Given the description of an element on the screen output the (x, y) to click on. 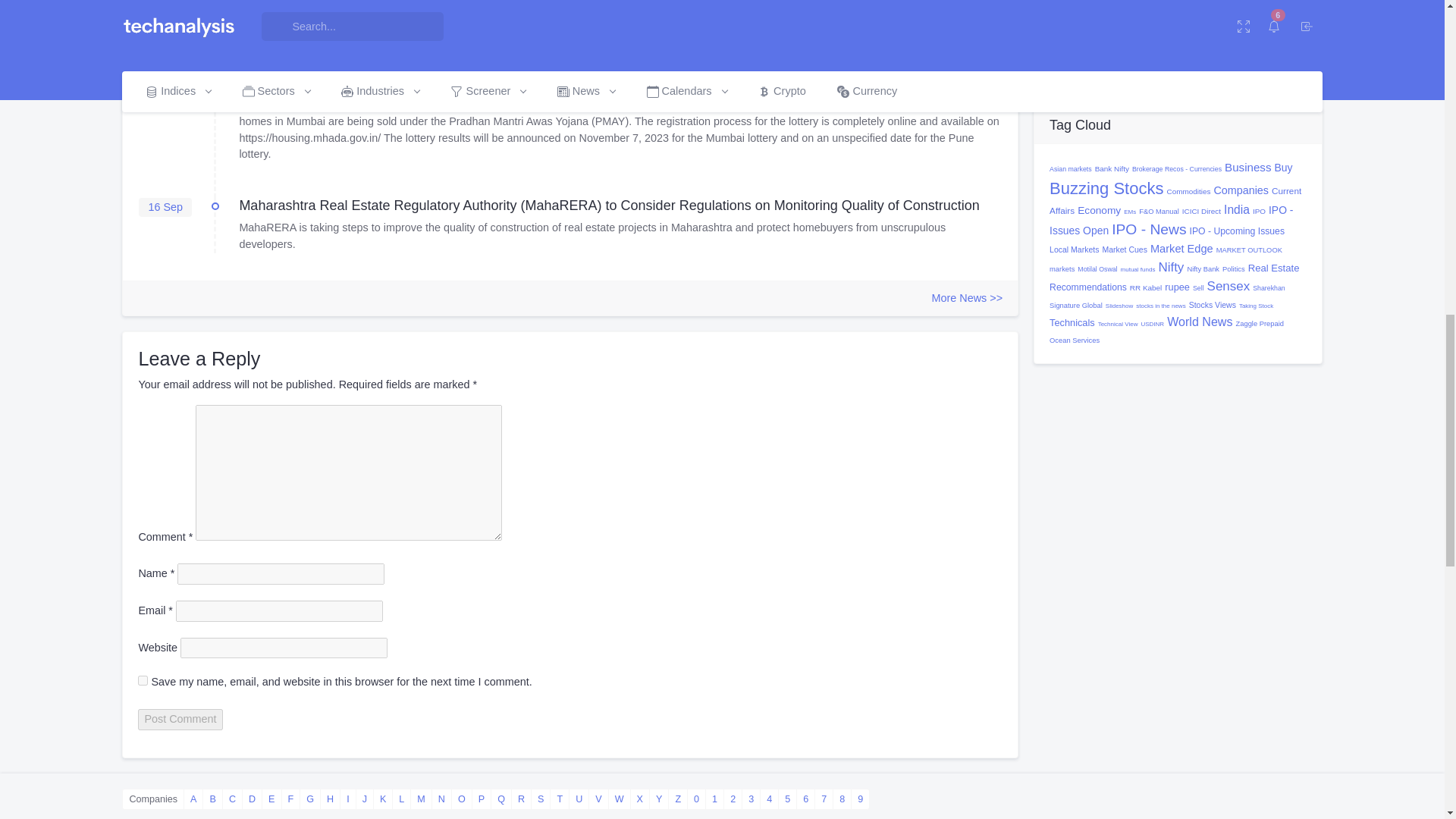
yes (143, 680)
Post Comment (180, 719)
